Given the description of an element on the screen output the (x, y) to click on. 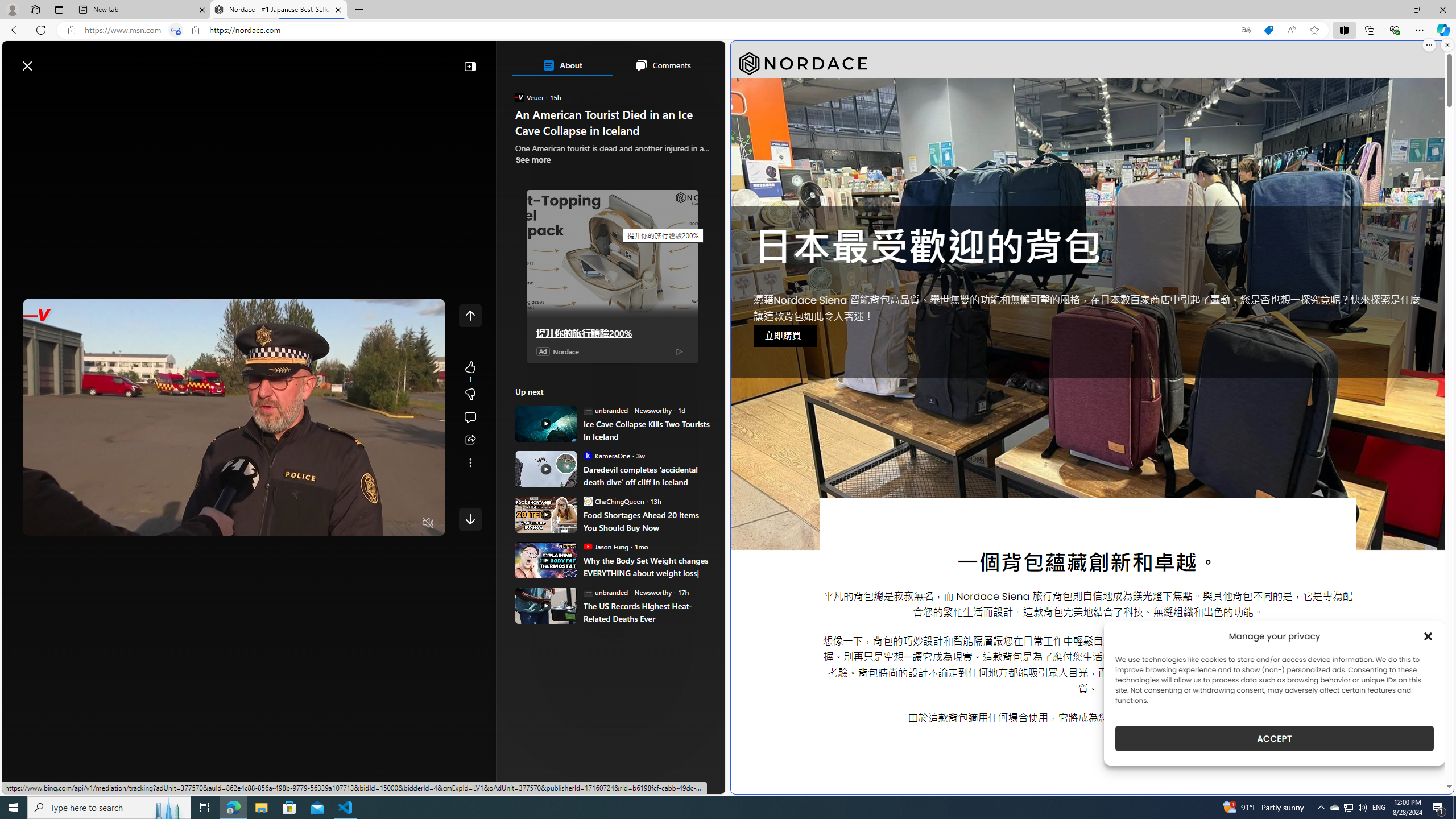
Web search (161, 60)
Seek Back (62, 523)
Enter your search term (366, 59)
Split screen (1344, 29)
Share this story (469, 440)
Pause (39, 523)
Progress Bar (234, 508)
See more (469, 462)
Start the conversation (469, 417)
Show translate options (1245, 29)
Class: control icon-only (469, 315)
Quality Settings (360, 523)
